Given the description of an element on the screen output the (x, y) to click on. 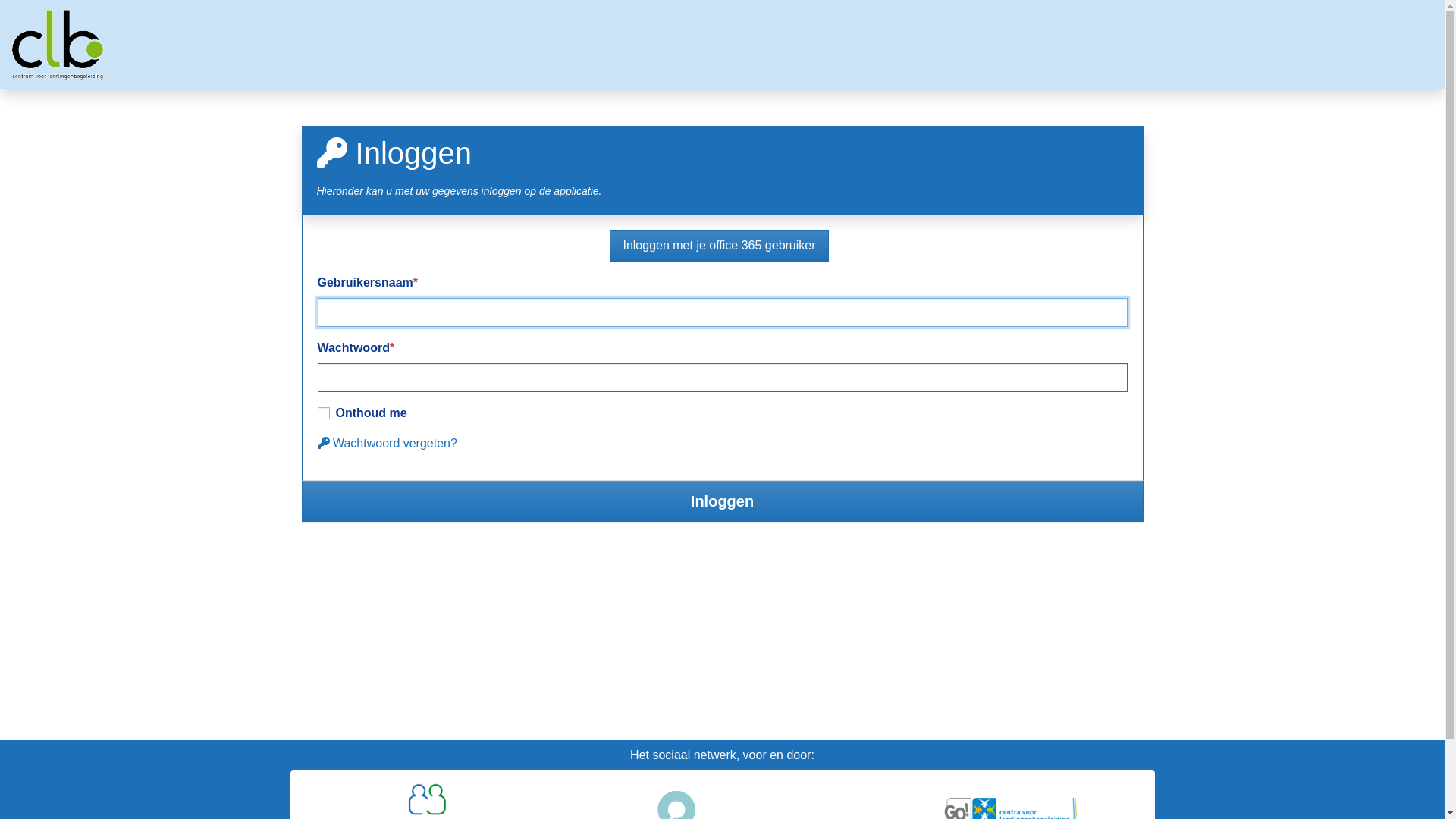
Inloggen Element type: text (722, 501)
Wachtwoord vergeten? Element type: text (386, 442)
Vrij CLB Netwerk Element type: hover (57, 44)
Inloggen met je office 365 gebruiker Element type: text (718, 245)
